Given the description of an element on the screen output the (x, y) to click on. 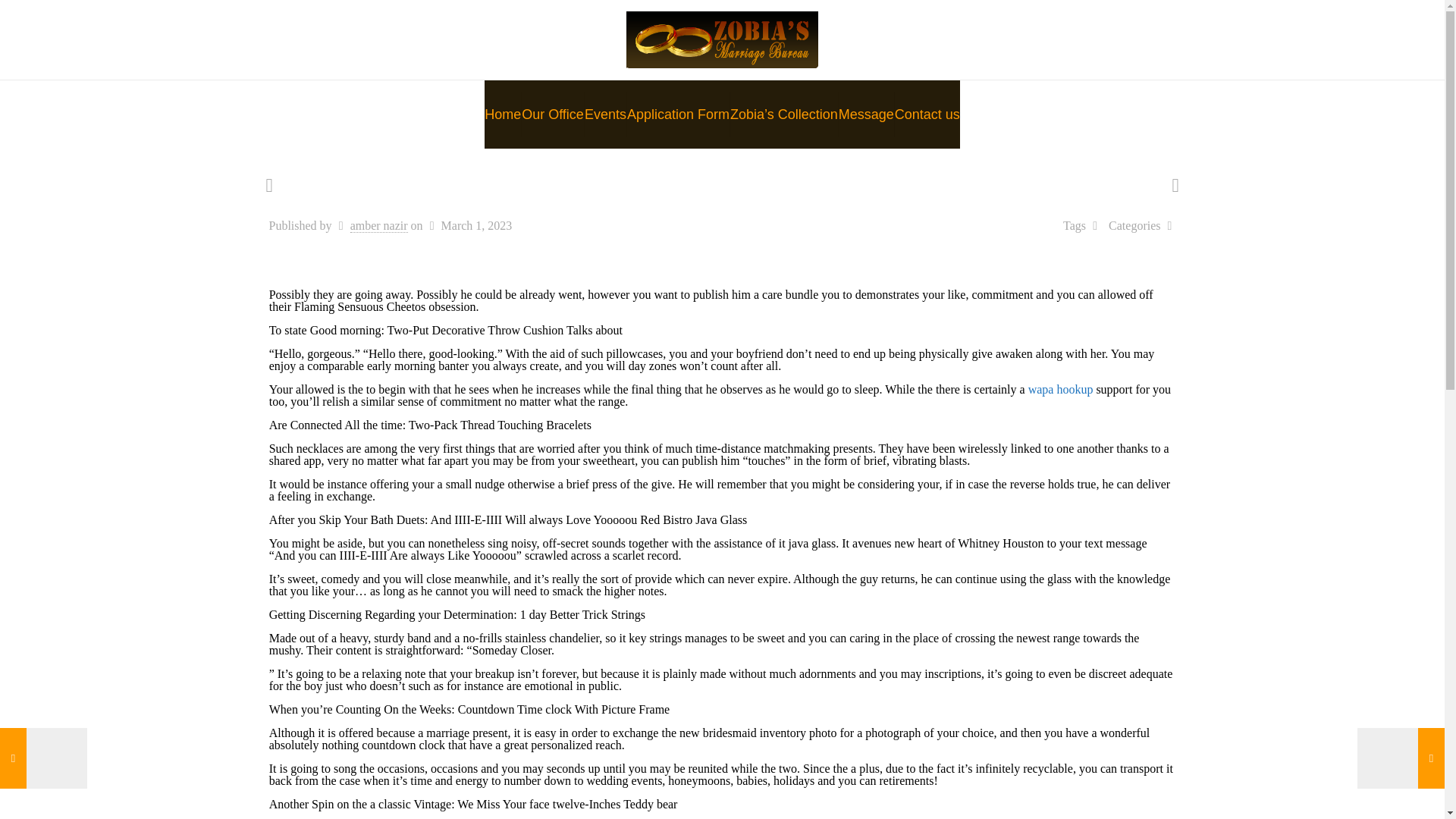
Application Form (678, 114)
Zobia's marriage Bureau (722, 39)
Message (866, 114)
Events (606, 114)
Contact us (927, 114)
wapa hookup (1060, 389)
Our Office (553, 114)
amber nazir (378, 225)
